Given the description of an element on the screen output the (x, y) to click on. 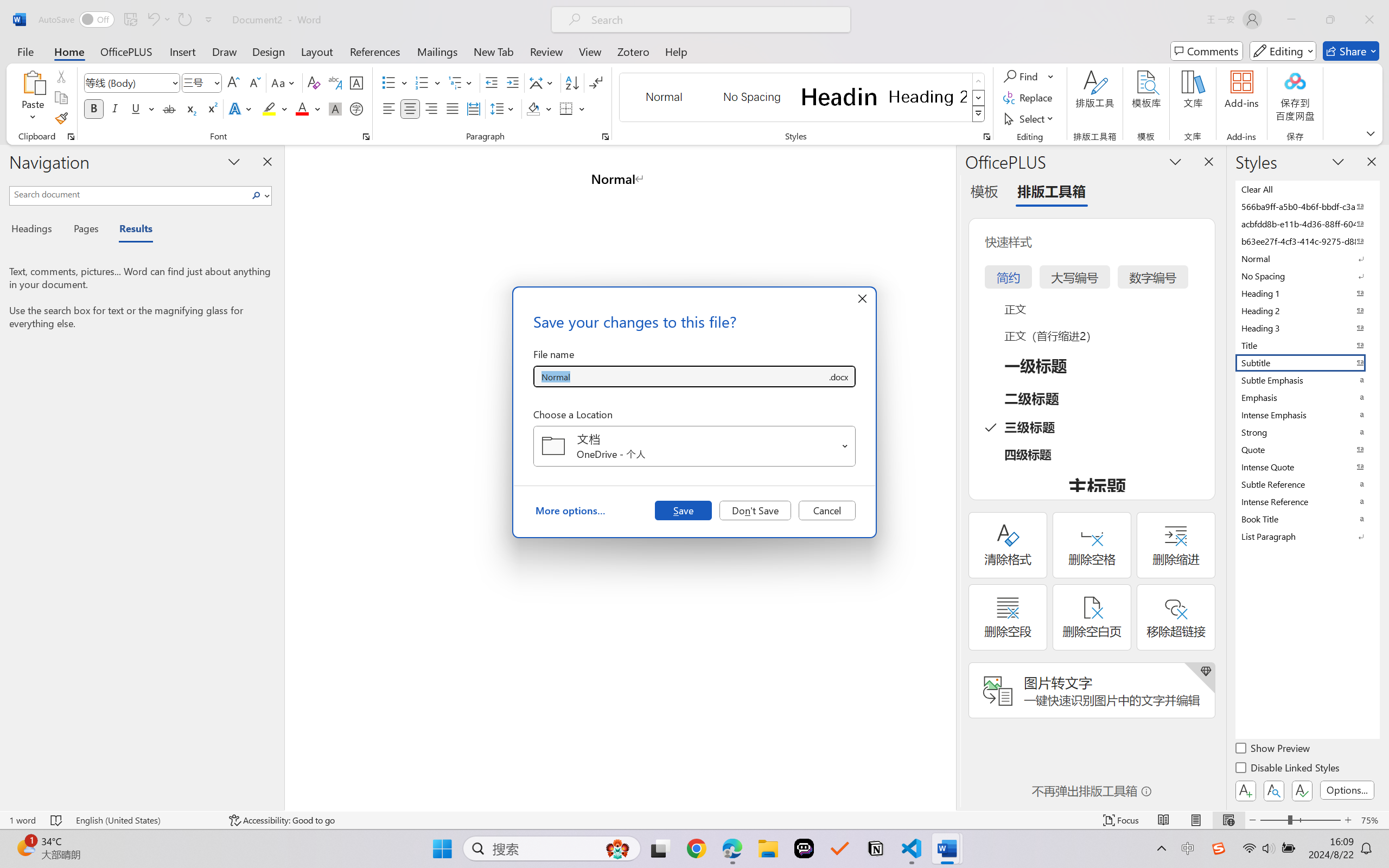
Zoom In (1348, 819)
Enclose Characters... (356, 108)
Phonetic Guide... (334, 82)
Help (675, 51)
Subtle Emphasis (1306, 379)
Show/Hide Editing Marks (595, 82)
Home (69, 51)
Font Color Red (302, 108)
Justify (452, 108)
Increase Indent (512, 82)
Minimize (1291, 19)
AutomationID: BadgeAnchorLargeTicker (24, 847)
